Given the description of an element on the screen output the (x, y) to click on. 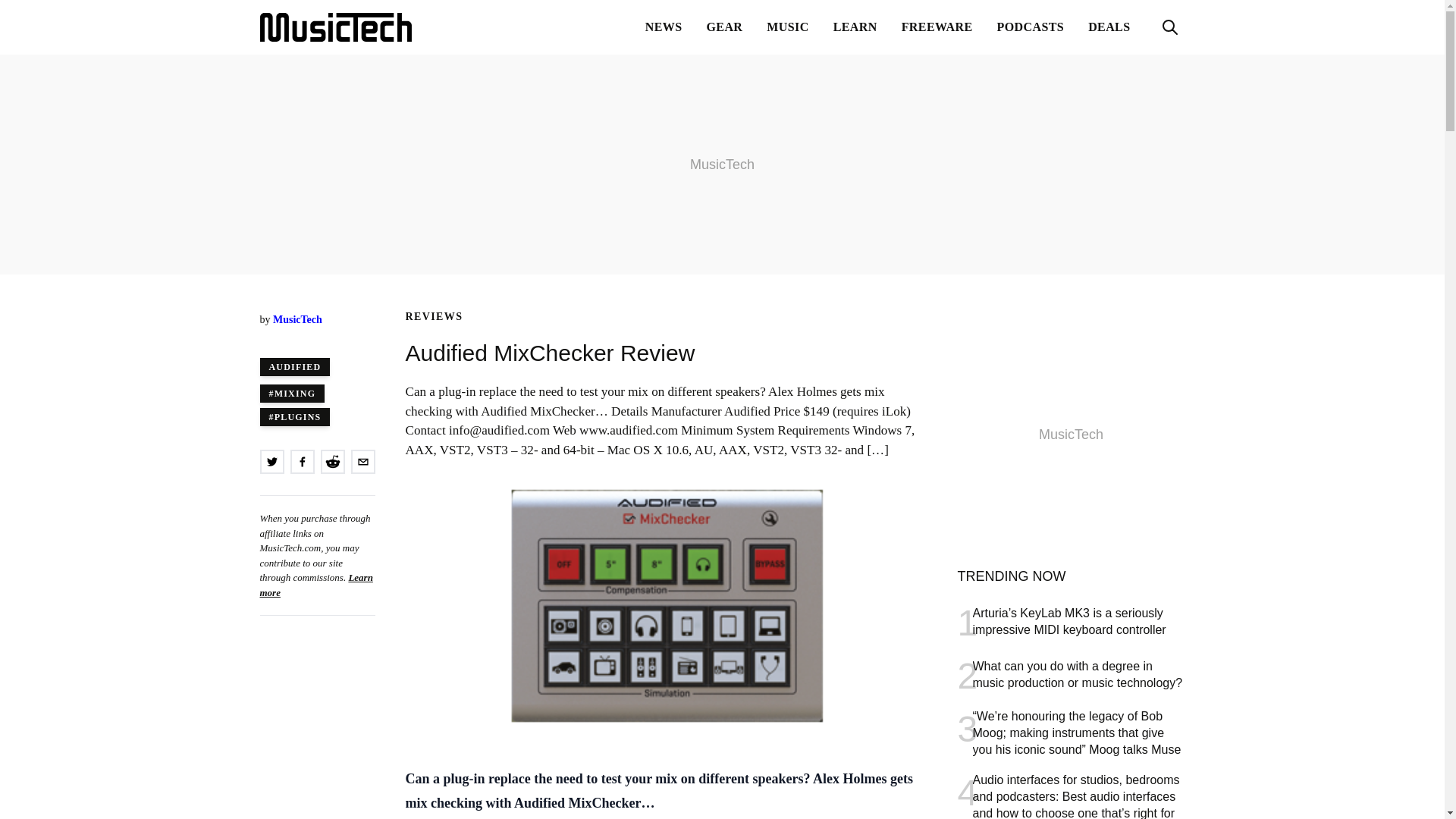
Published October 28, 2016 11:23AM (316, 335)
Mixing (291, 393)
Learn more (315, 584)
MusicTech (297, 319)
REVIEWS (433, 316)
FREEWARE (936, 27)
GEAR (724, 27)
PODCASTS (1030, 27)
MusicTech (334, 27)
